Given the description of an element on the screen output the (x, y) to click on. 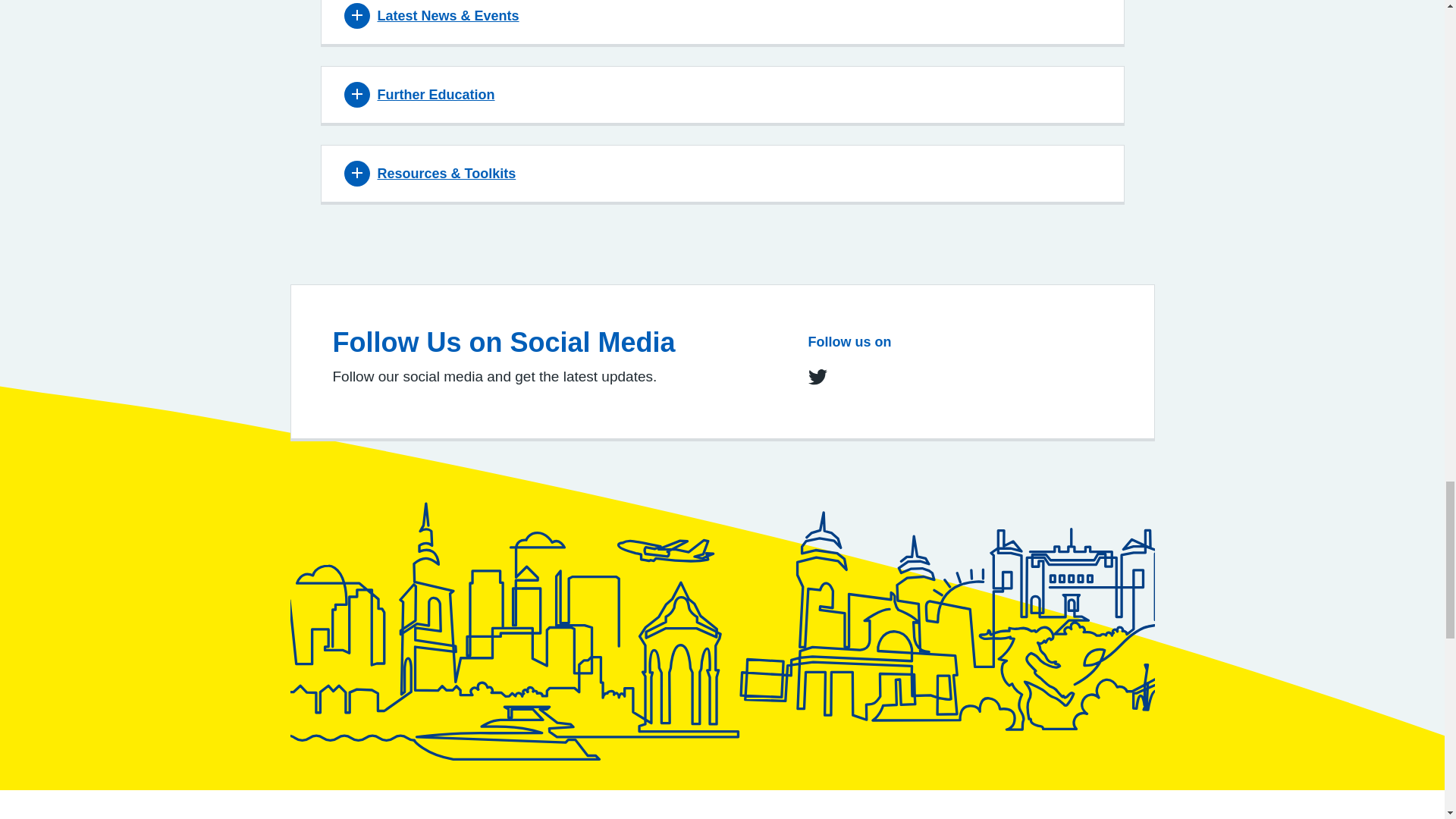
Further Education (419, 94)
